Given the description of an element on the screen output the (x, y) to click on. 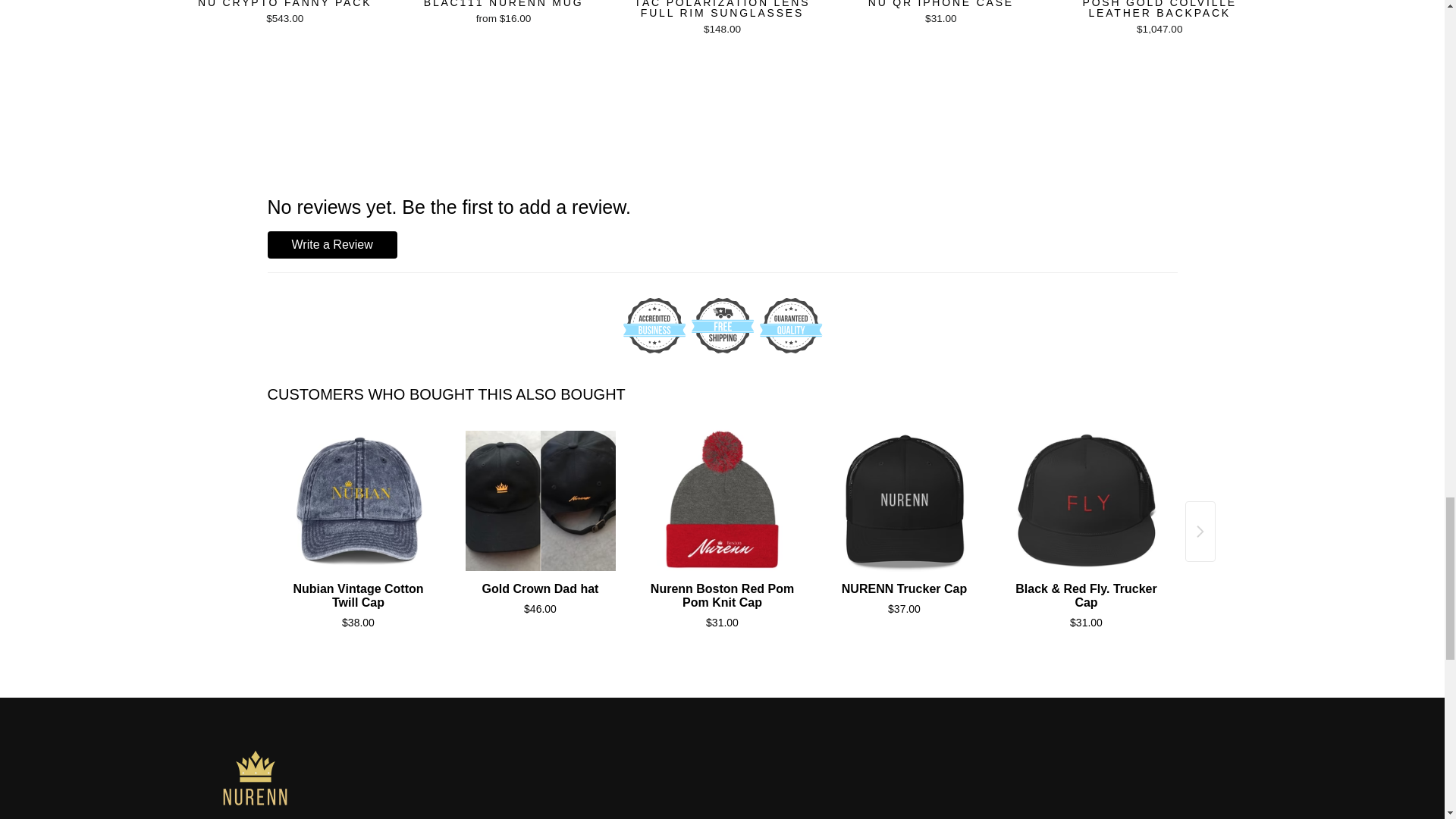
Gold Crown Dad hat (540, 500)
NURENN Trucker Cap (904, 500)
Nubian Vintage Cotton Twill Cap (358, 500)
Nurenn Boston Red Pom Pom Knit Cap (722, 500)
